Given the description of an element on the screen output the (x, y) to click on. 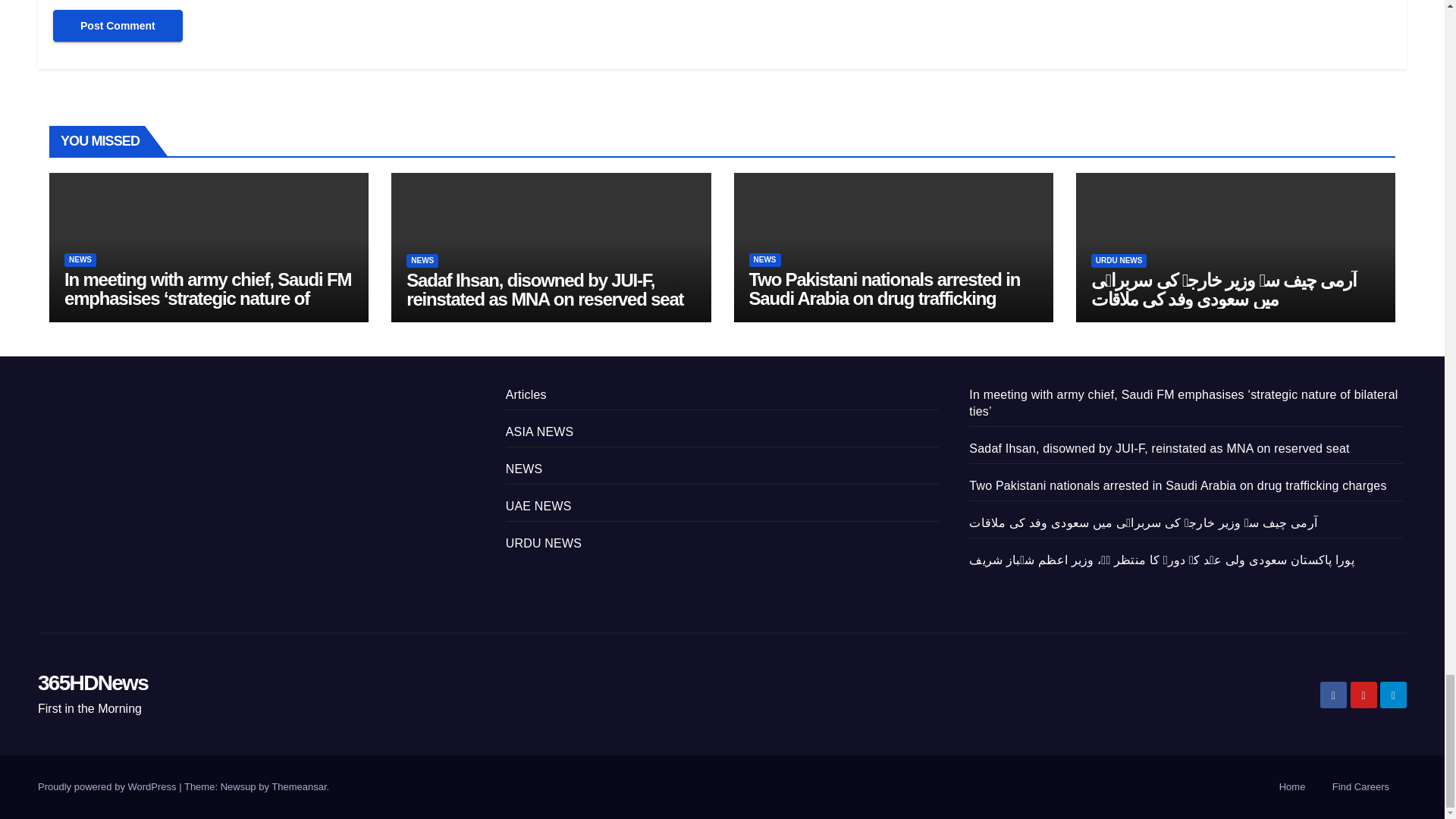
NEWS (524, 468)
Post Comment (117, 25)
UAE NEWS (538, 505)
NEWS (422, 260)
URDU NEWS (1118, 260)
NEWS (80, 259)
Post Comment (117, 25)
NEWS (764, 259)
Find Careers (1360, 786)
URDU NEWS (542, 543)
Home (1291, 786)
Articles (526, 394)
